Given the description of an element on the screen output the (x, y) to click on. 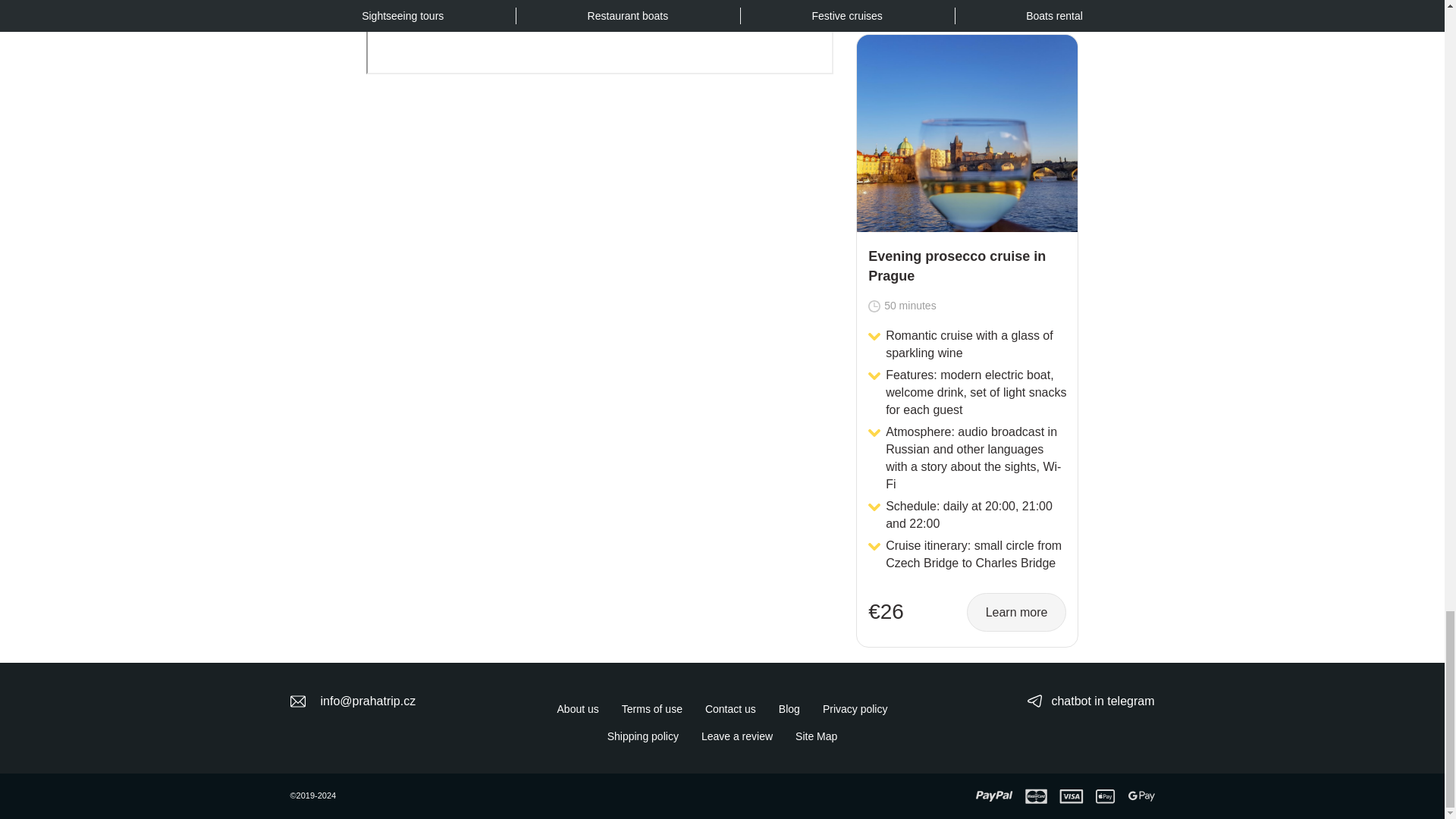
Evening prosecco cruise in Prague (966, 266)
Evening prosecco cruise in Prague (967, 133)
